Given the description of an element on the screen output the (x, y) to click on. 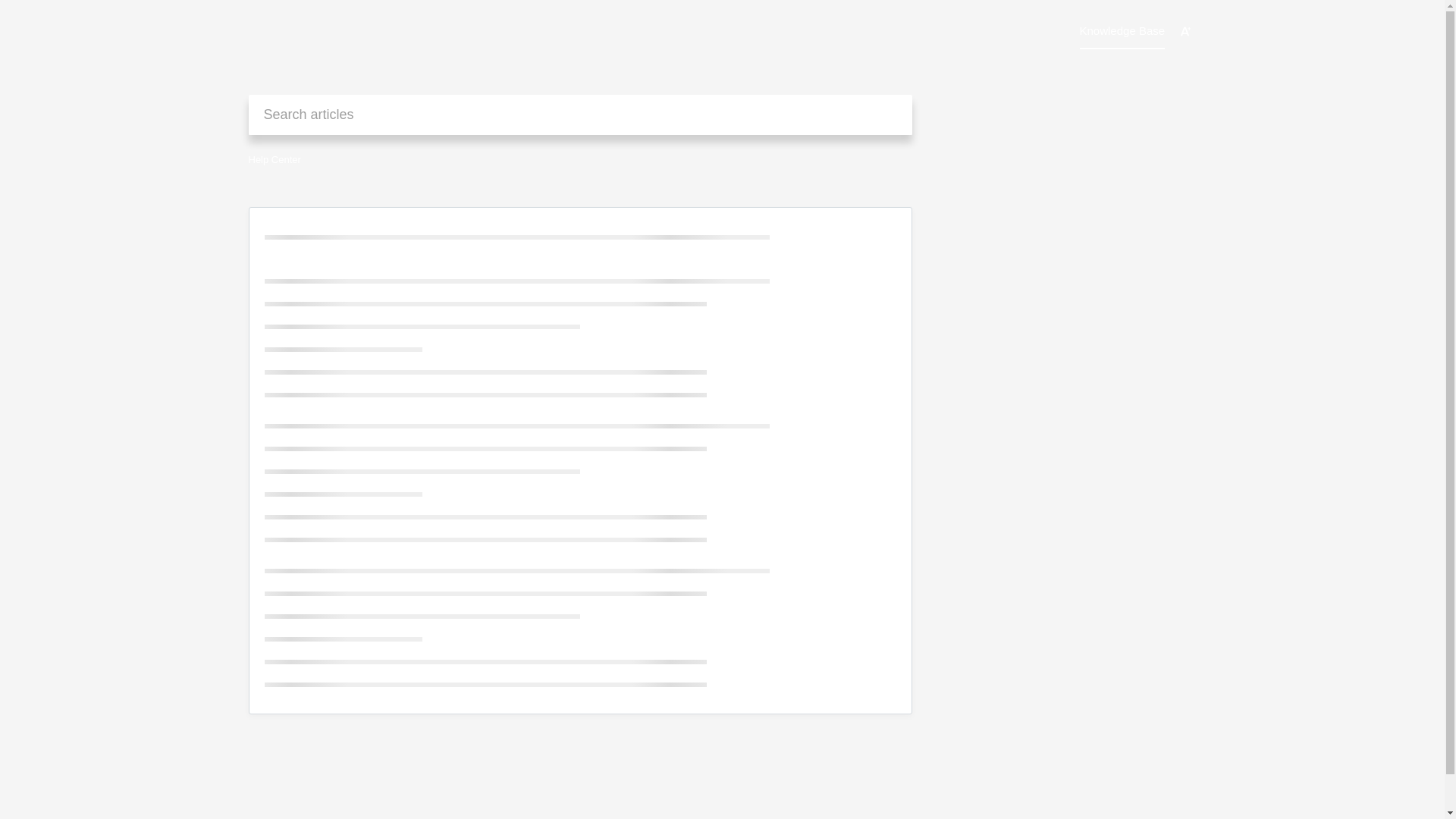
Help Center (274, 159)
Knowledge Base (1123, 30)
Knowledge Base (1123, 30)
